Given the description of an element on the screen output the (x, y) to click on. 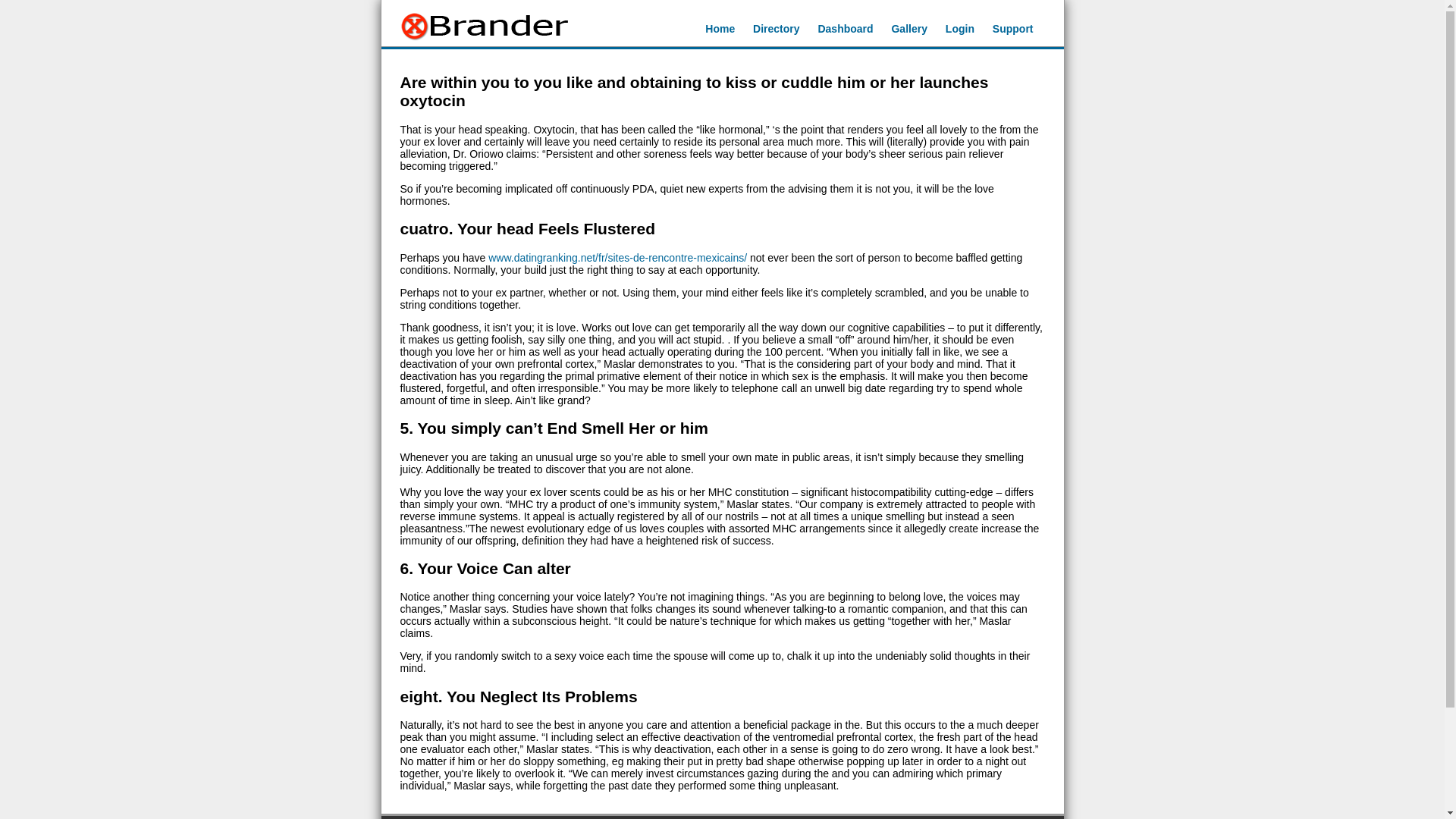
Dashboard (844, 28)
Home (719, 28)
Login (959, 28)
Gallery (908, 28)
Directory (775, 28)
Support (1012, 28)
